Given the description of an element on the screen output the (x, y) to click on. 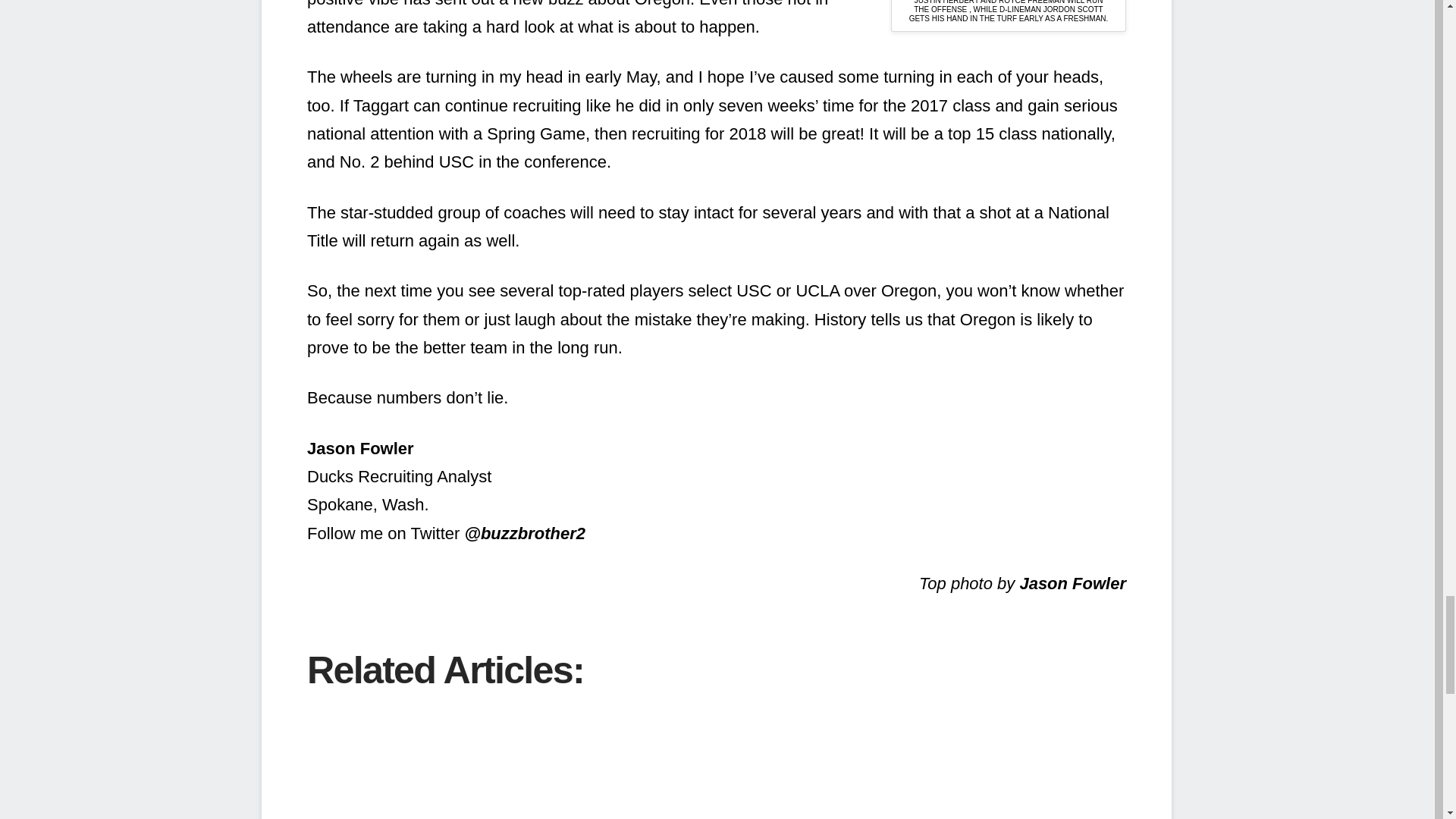
Oregon's Recruiting Record: Lanning Has a Shot... (368, 760)
Oregon's NLI Signing Day Could be Insane (612, 760)
Will Henry To'oto'o Please Fix Our Defense? (979, 760)
Oregon's QB1: Who Gets The Nod Week 1? (856, 760)
Ready to Rethink Recruiting for Lanning's 2022 Class? (734, 760)
